Given the description of an element on the screen output the (x, y) to click on. 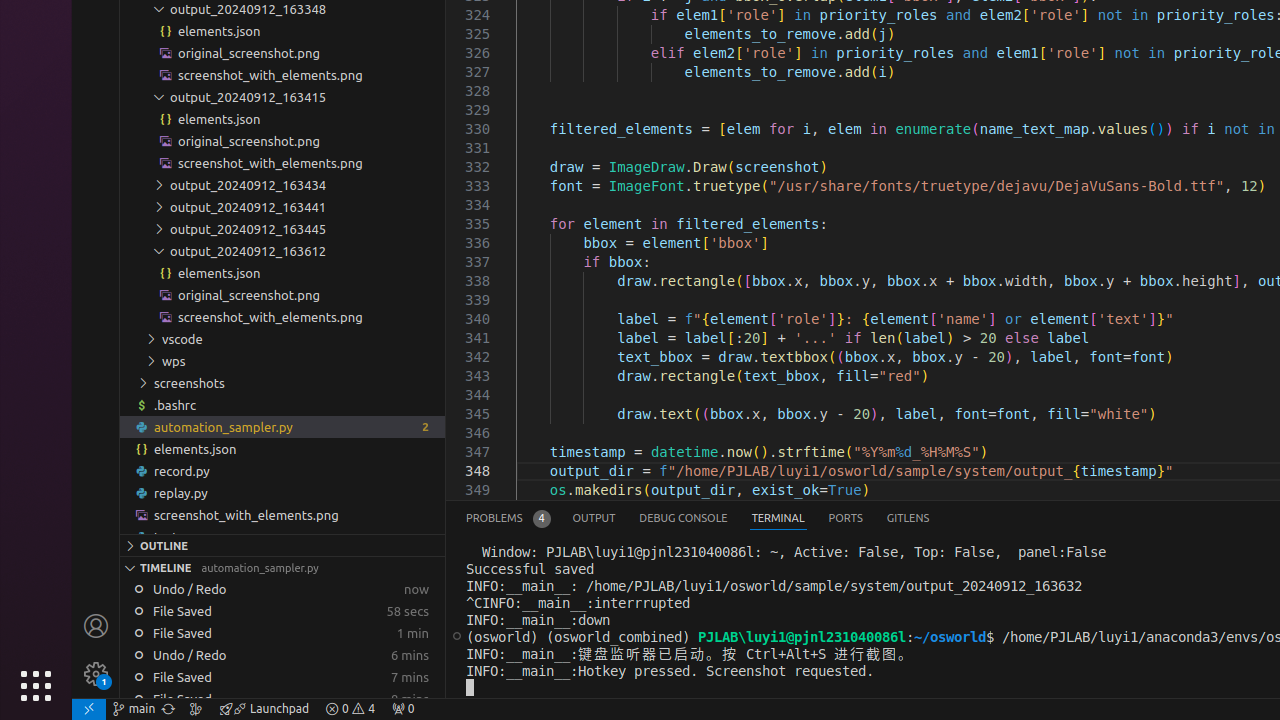
output_20240912_163434 Element type: tree-item (282, 184)
replay.py Element type: tree-item (282, 492)
GitLens Element type: page-tab (908, 518)
remote Element type: push-button (89, 709)
rocket gitlens-unplug Launchpad, GitLens Launchpad ᴘʀᴇᴠɪᴇᴡ    &mdash;    [$(question)](command:gitlens.launchpad.indicator.action?%22info%22 "What is this?") [$(gear)](command:workbench.action.openSettings?%22gitlens.launchpad%22 "Settings")  |  [$(circle-slash) Hide](command:gitlens.launchpad.indicator.action?%22hide%22 "Hide") --- [Launchpad](command:gitlens.launchpad.indicator.action?%info%22 "Learn about Launchpad") organizes your pull requests into actionable groups to help you focus and keep your team unblocked. It's always accessible using the `GitLens: Open Launchpad` command from the Command Palette. --- [Connect an integration](command:gitlens.showLaunchpad?%7B%22source%22%3A%22launchpad-indicator%22%7D "Connect an integration") to get started. Element type: push-button (264, 709)
